Given the description of an element on the screen output the (x, y) to click on. 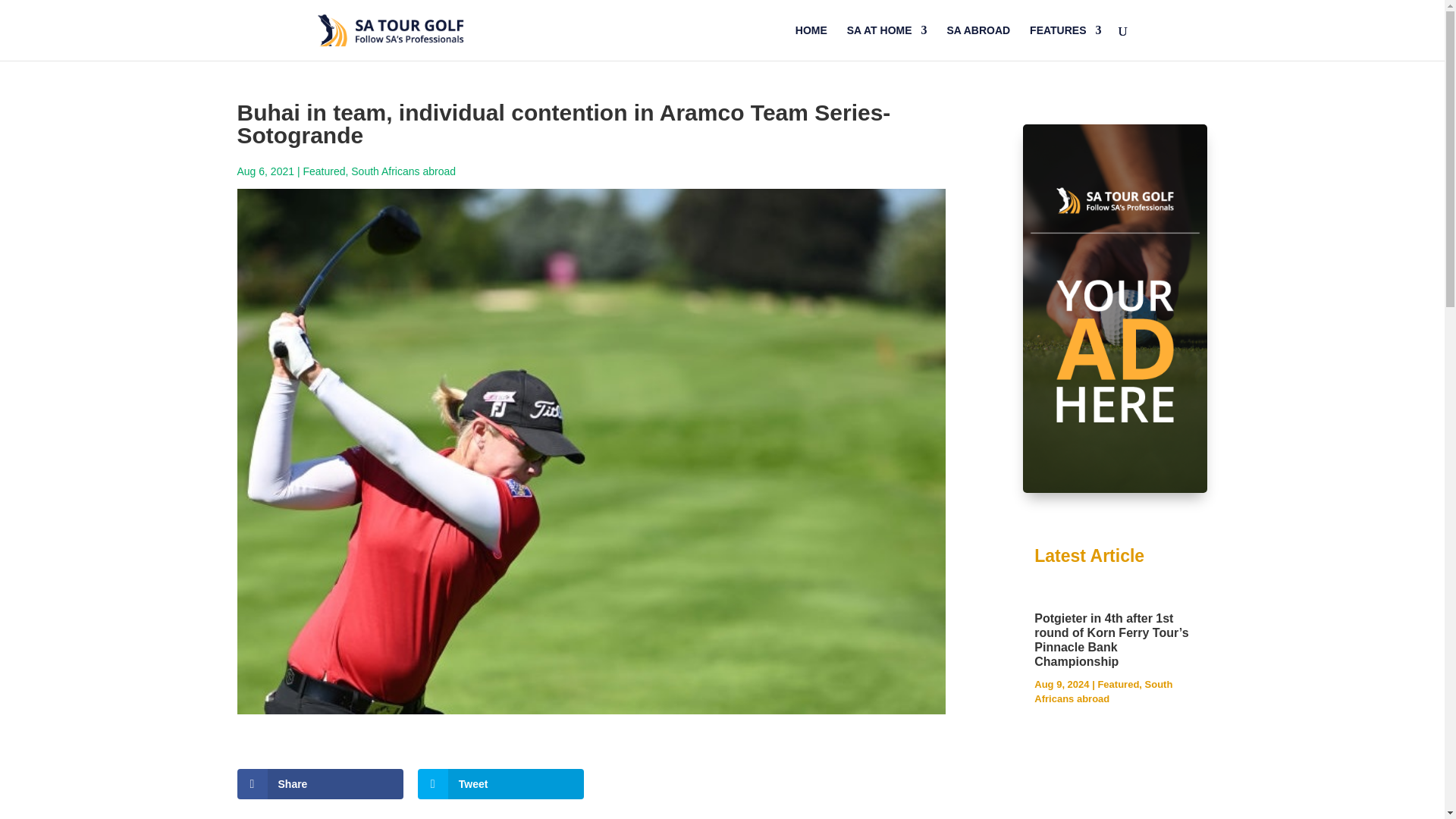
FEATURES (1064, 42)
South Africans abroad (402, 171)
SA AT HOME (887, 42)
Featured (323, 171)
SA ABROAD (978, 42)
HOME (810, 42)
Share (319, 784)
Tweet (501, 784)
